Given the description of an element on the screen output the (x, y) to click on. 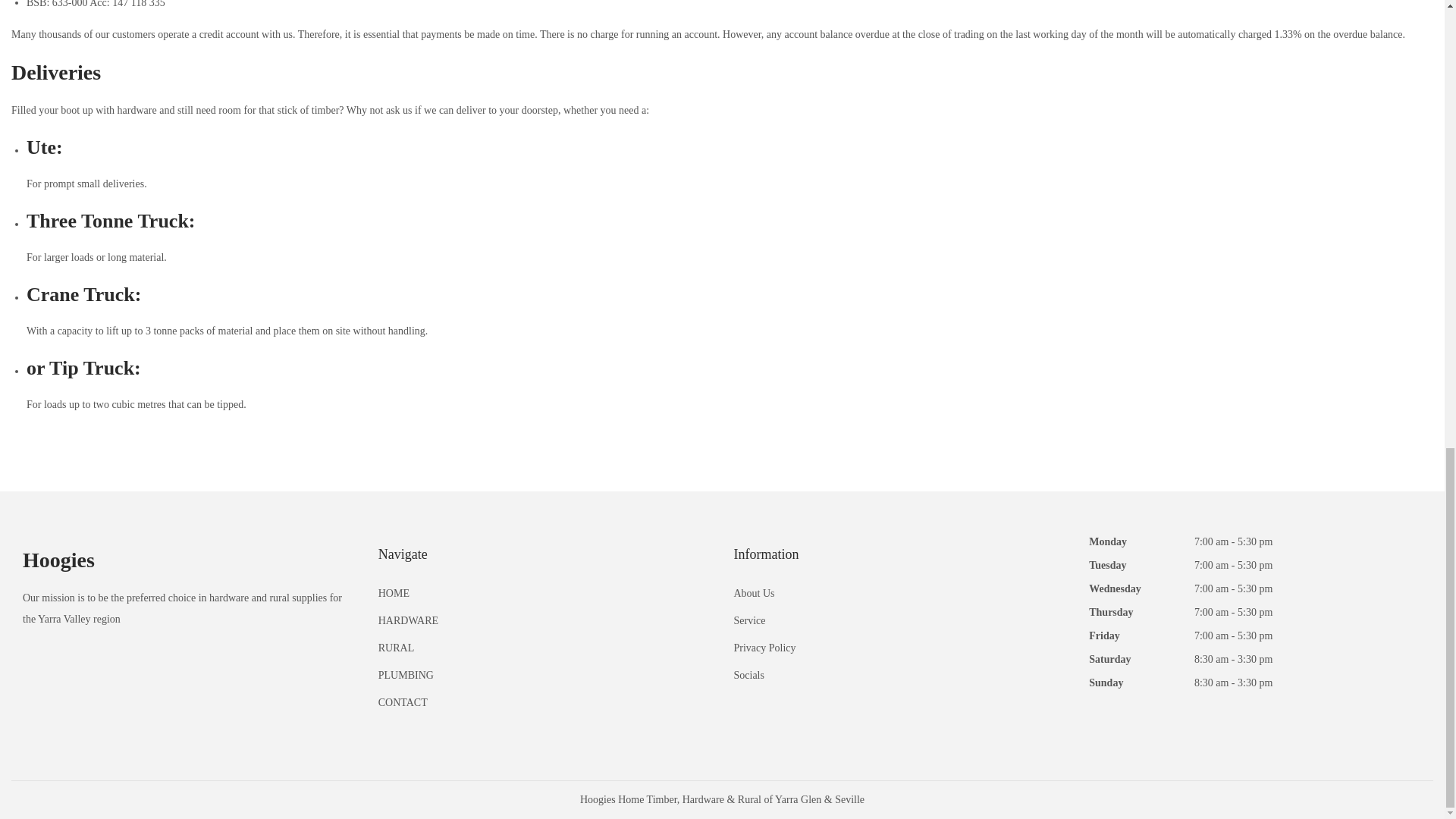
About Us (753, 593)
CONTACT (403, 702)
PLUMBING (405, 674)
Service (749, 620)
RURAL (395, 647)
HOME (393, 593)
Privacy Policy (764, 647)
Socials (748, 674)
HARDWARE (408, 620)
